Given the description of an element on the screen output the (x, y) to click on. 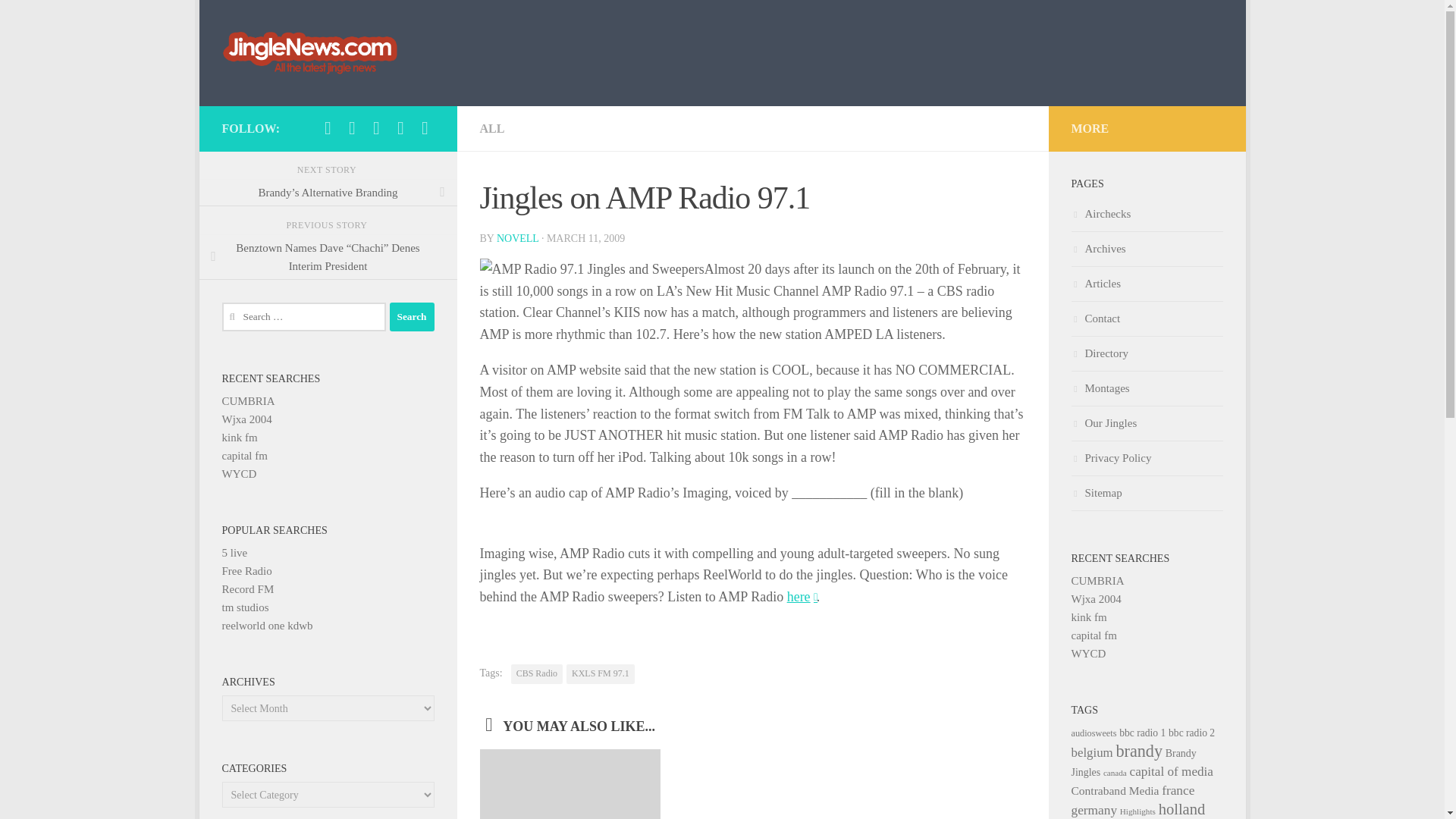
KXLS FM 97.1 (600, 673)
CBS Radio (536, 673)
Record FM (247, 589)
CUMBRIA (248, 400)
Follow us on Rss-square (423, 127)
ALL (491, 128)
Follow us on Soundcloud (375, 127)
NOVELL (517, 238)
capital fm (243, 455)
Skip to content (258, 20)
5 live (234, 552)
Follow us on Twitter-square (351, 127)
Follow us on Youtube-square (400, 127)
kink fm (239, 437)
Follow us on Facebook (327, 127)
